Given the description of an element on the screen output the (x, y) to click on. 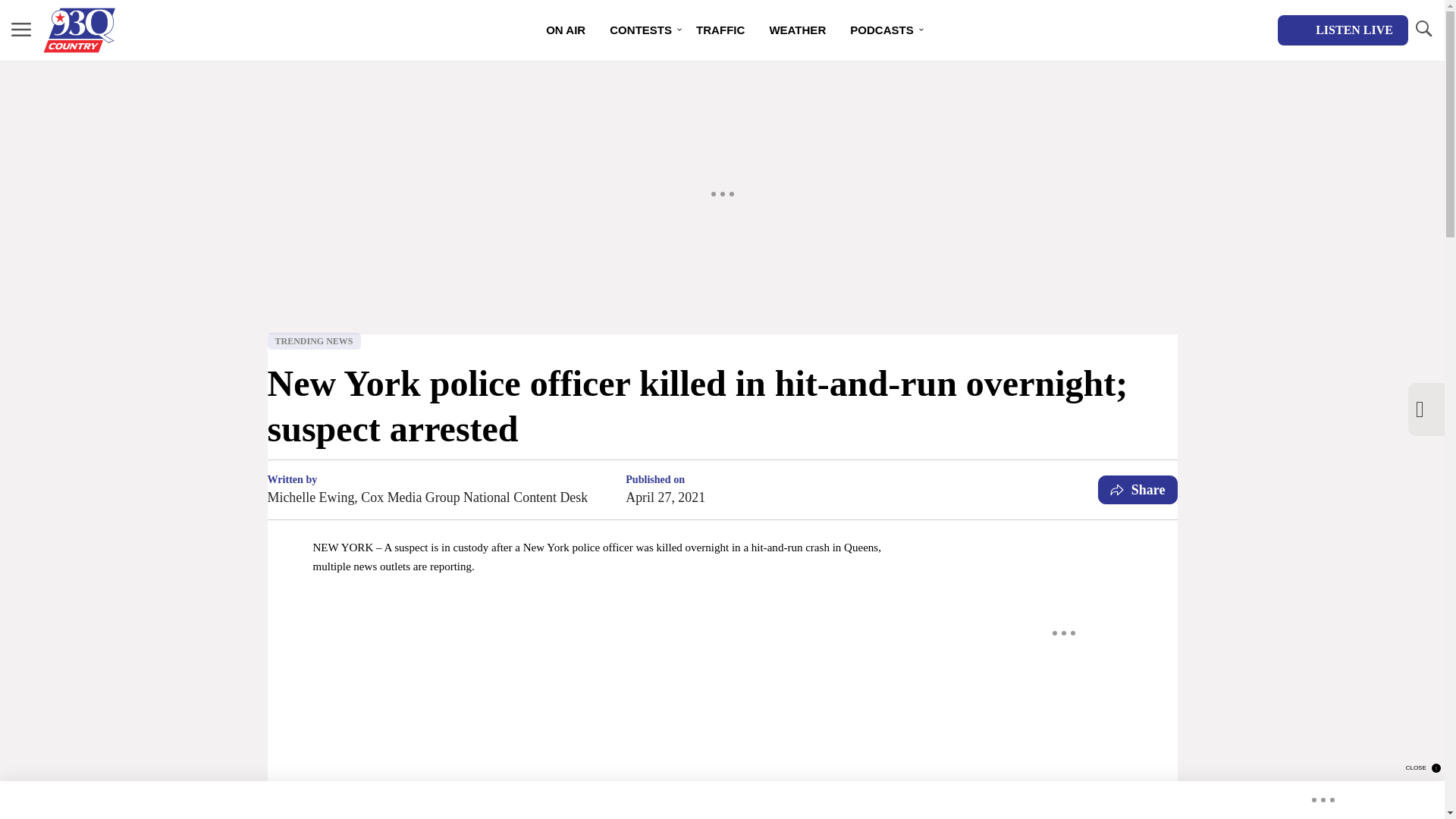
MENU (20, 30)
PODCASTS (882, 30)
TRENDING NEWS (312, 340)
LISTEN LIVE (1342, 30)
TOGGLE SEARCH (1422, 28)
TRAFFIC (720, 30)
CONTESTS (640, 30)
TOGGLE SEARCH (1422, 30)
ON AIR (565, 30)
Share (1137, 489)
